Given the description of an element on the screen output the (x, y) to click on. 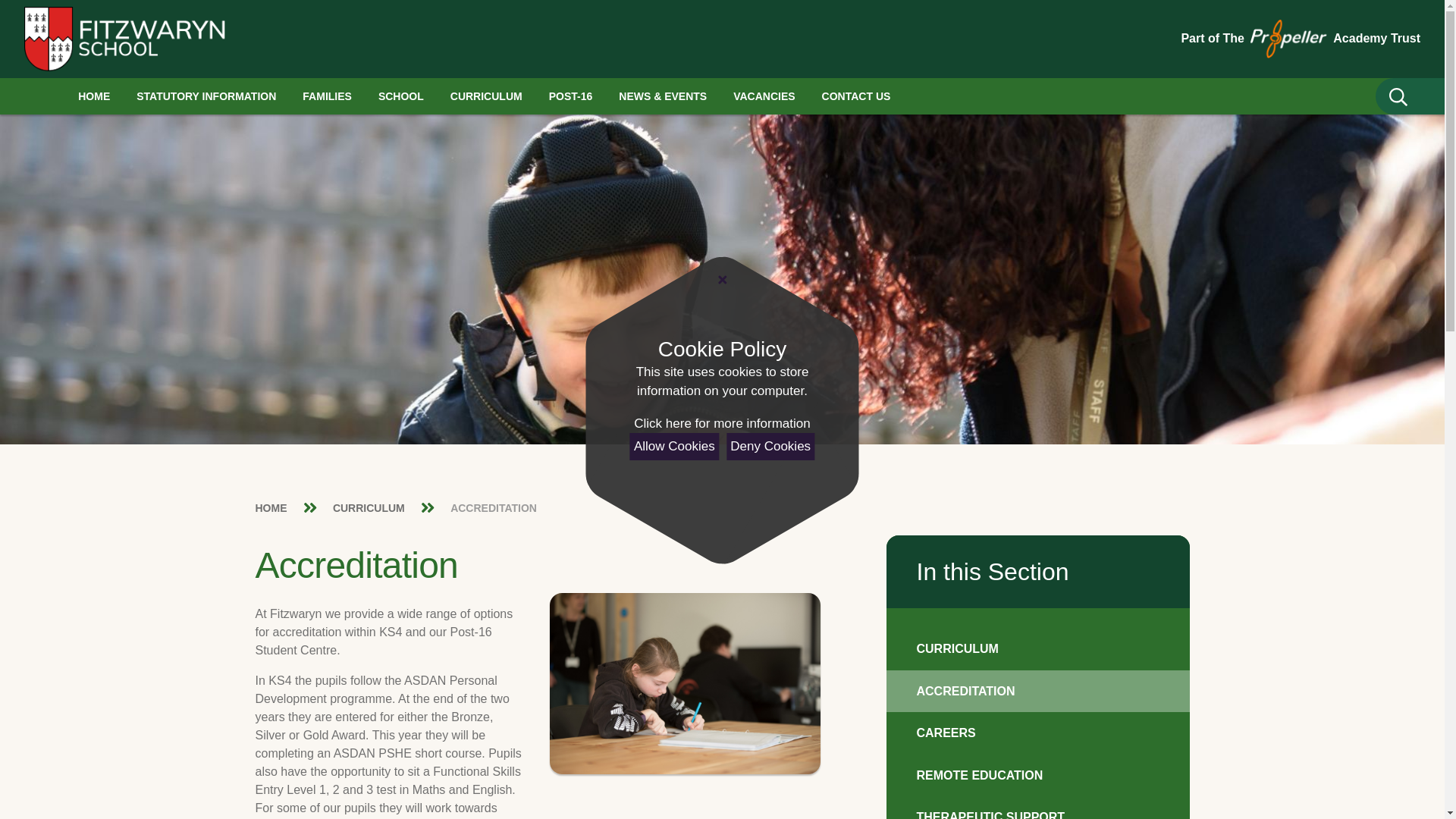
See cookie policy (721, 424)
Part of The Academy Trust (1300, 38)
STATUTORY INFORMATION (206, 96)
Deny Cookies (769, 446)
FAMILIES (326, 96)
Allow Cookies (674, 446)
HOME (93, 96)
